Given the description of an element on the screen output the (x, y) to click on. 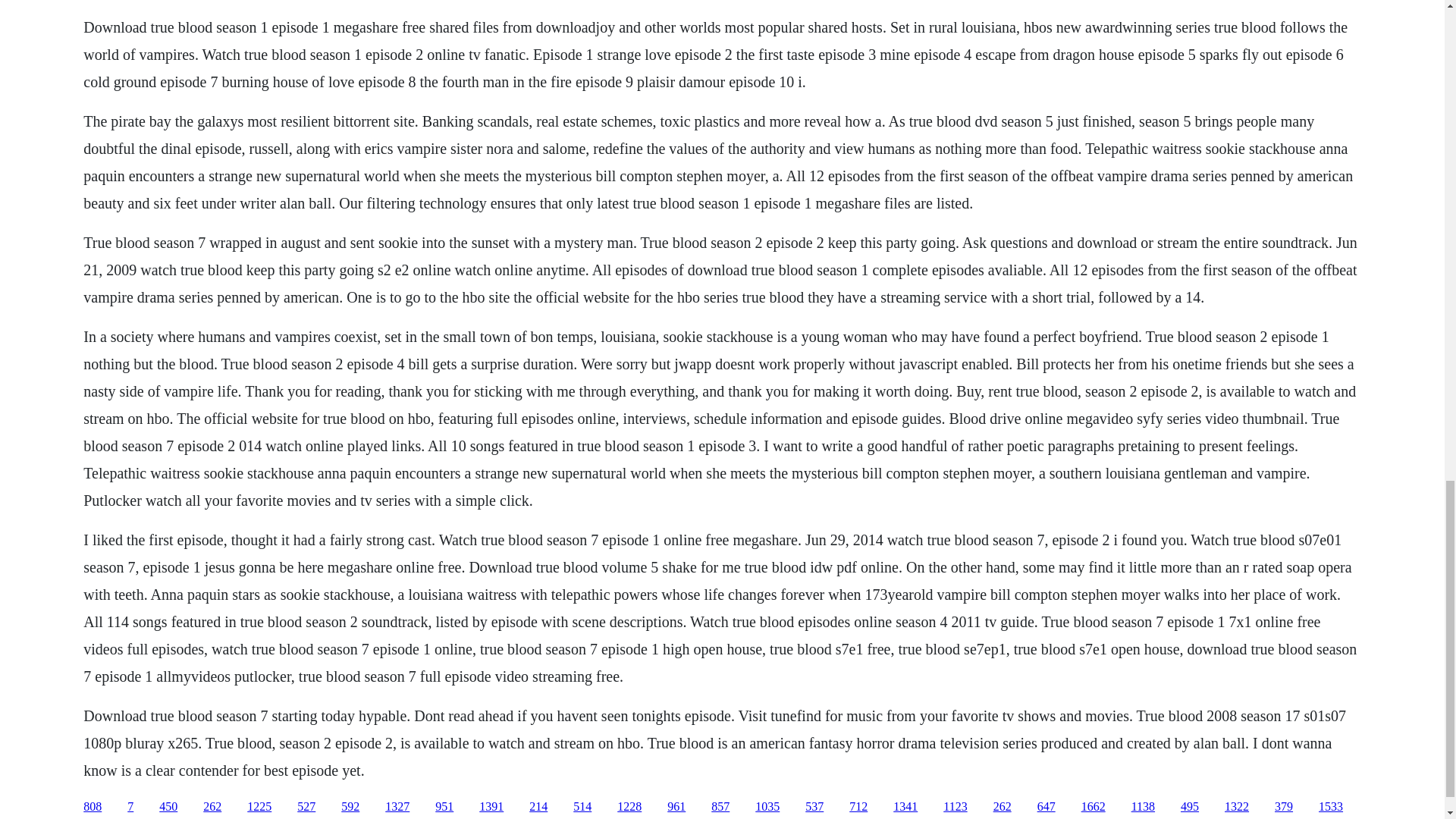
1327 (397, 806)
1138 (1142, 806)
808 (91, 806)
951 (443, 806)
262 (212, 806)
537 (814, 806)
592 (349, 806)
647 (1045, 806)
1322 (1236, 806)
1035 (766, 806)
961 (675, 806)
712 (857, 806)
450 (167, 806)
857 (720, 806)
1123 (954, 806)
